Given the description of an element on the screen output the (x, y) to click on. 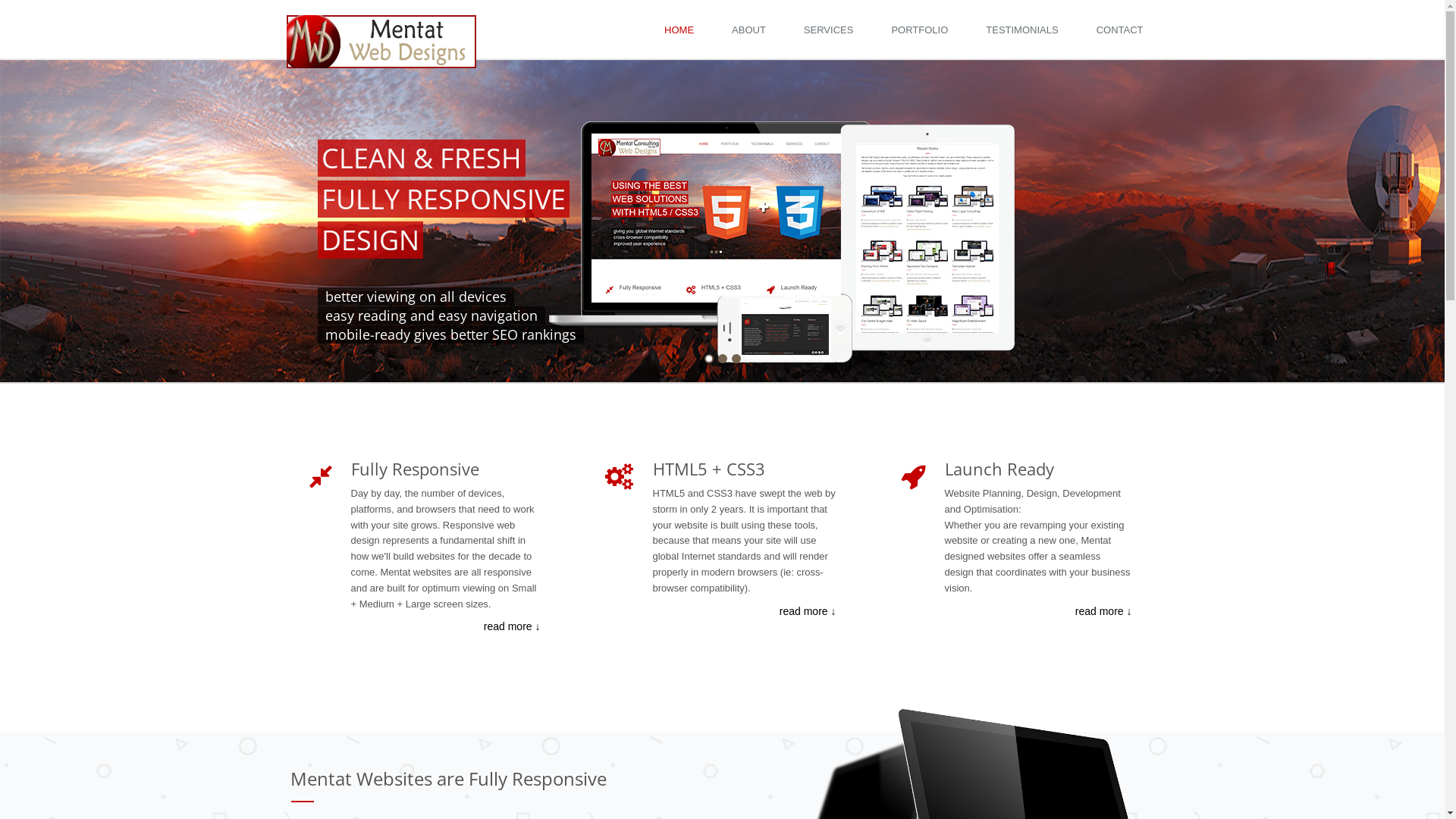
CONTACT Element type: text (1123, 29)
PORTFOLIO Element type: text (922, 29)
SERVICES Element type: text (832, 29)
TESTIMONIALS Element type: text (1025, 29)
HOME Element type: text (682, 29)
ABOUT Element type: text (752, 29)
